Given the description of an element on the screen output the (x, y) to click on. 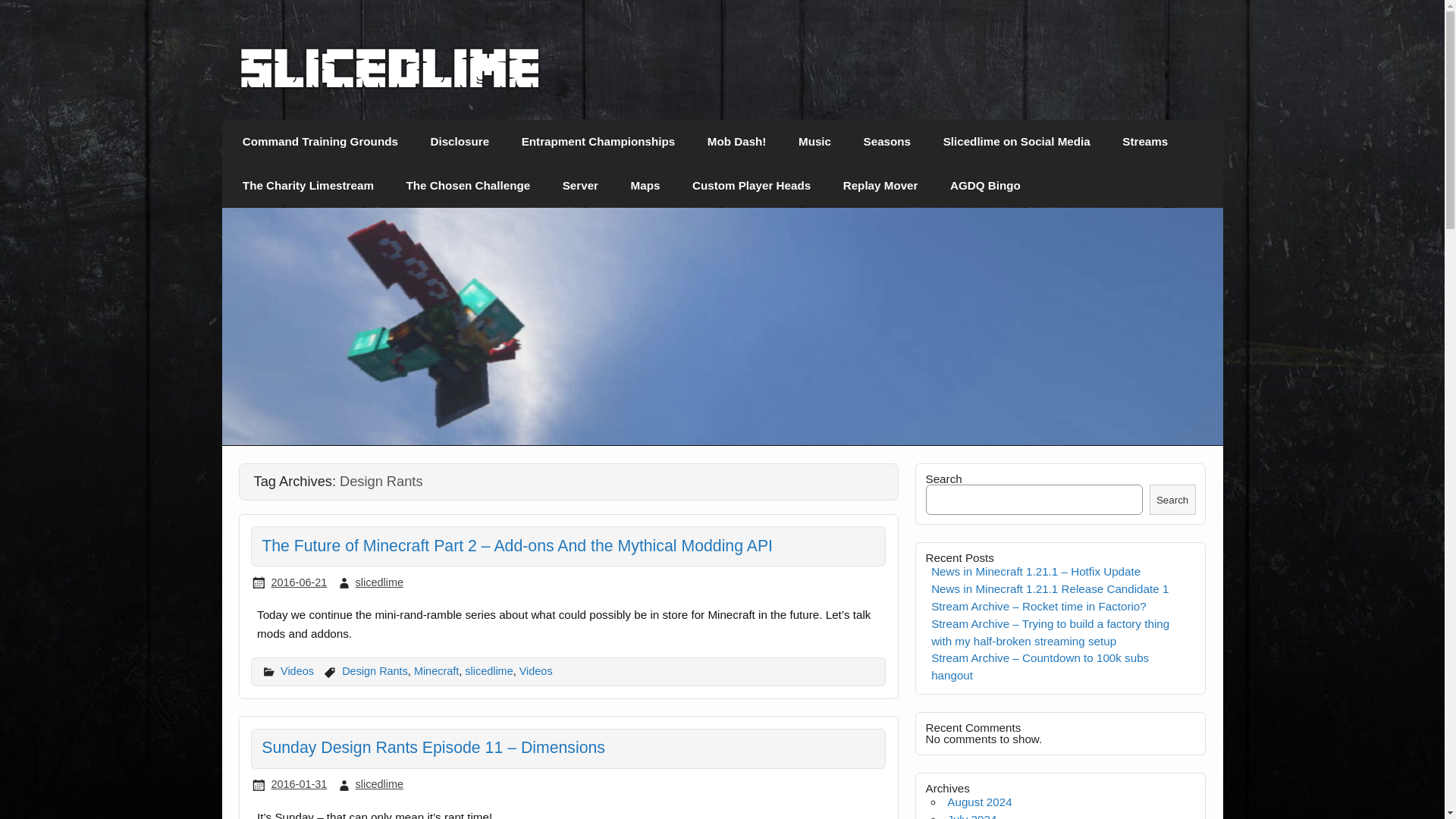
slicedlime (379, 784)
View all posts by slicedlime (379, 784)
Mob Dash! (737, 141)
2016-01-31 (298, 784)
slicedlime (488, 671)
21:04 (298, 582)
slicedlime (389, 84)
Maps (644, 185)
Minecraft (435, 671)
Design Rants (374, 671)
